Given the description of an element on the screen output the (x, y) to click on. 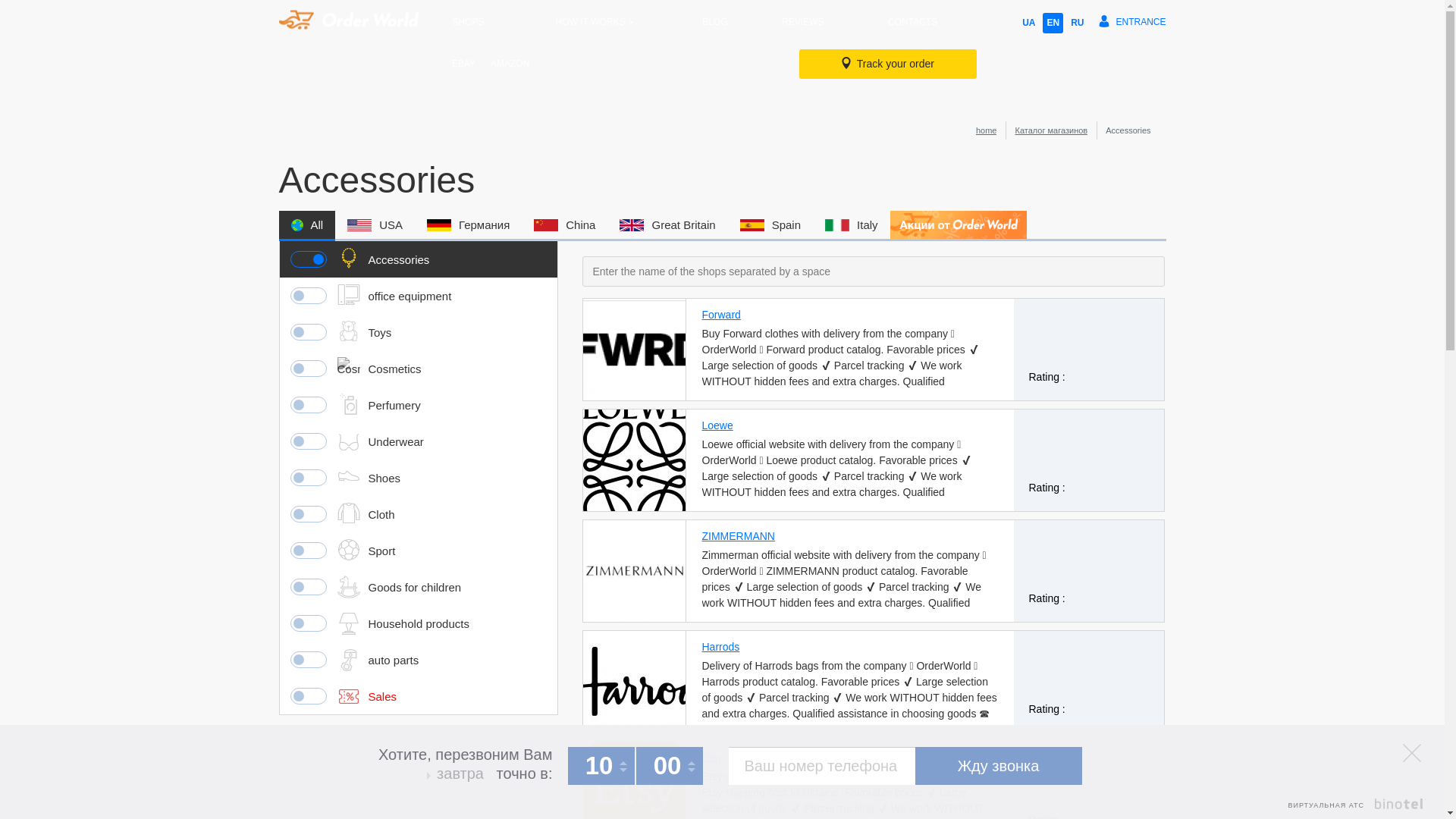
Shoes (347, 477)
Accessories (417, 258)
Great Britain (666, 224)
Shoes (417, 477)
Italy (850, 224)
RU (1077, 23)
Accessories (347, 259)
home (986, 130)
Toys (417, 331)
UA (1028, 23)
Underwear (417, 441)
Spain (770, 224)
REVIEWS (802, 21)
Underwear (347, 440)
Shoes (417, 477)
